Given the description of an element on the screen output the (x, y) to click on. 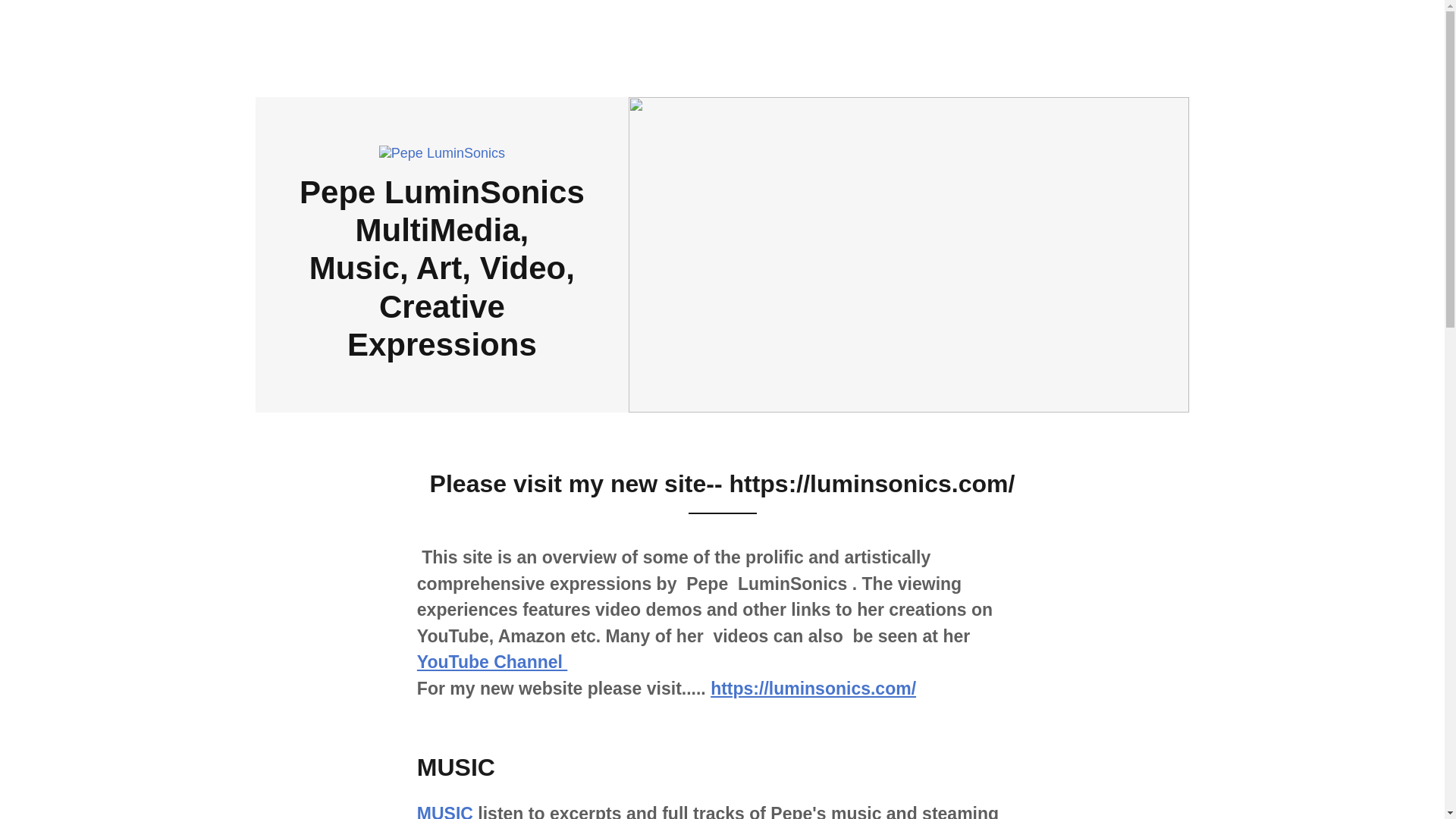
MUSIC (444, 811)
Pepe LuminSonics (441, 151)
YouTube Channel  (491, 661)
